Given the description of an element on the screen output the (x, y) to click on. 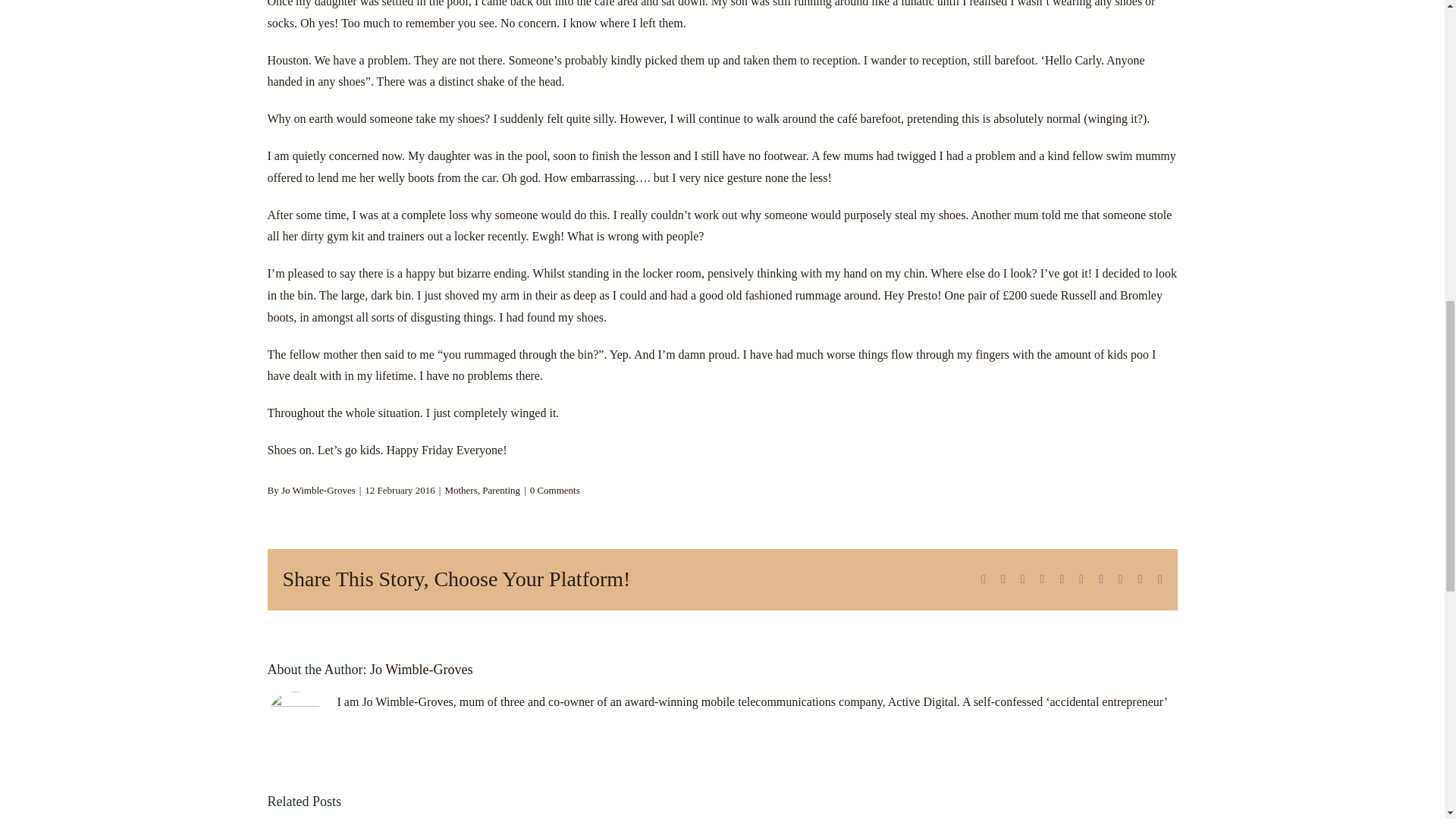
Jo Wimble-Groves (420, 669)
0 Comments (554, 490)
Jo Wimble-Groves (318, 490)
Mothers (460, 490)
Parenting (500, 490)
Posts by Jo Wimble-Groves (420, 669)
Posts by Jo Wimble-Groves (318, 490)
